Given the description of an element on the screen output the (x, y) to click on. 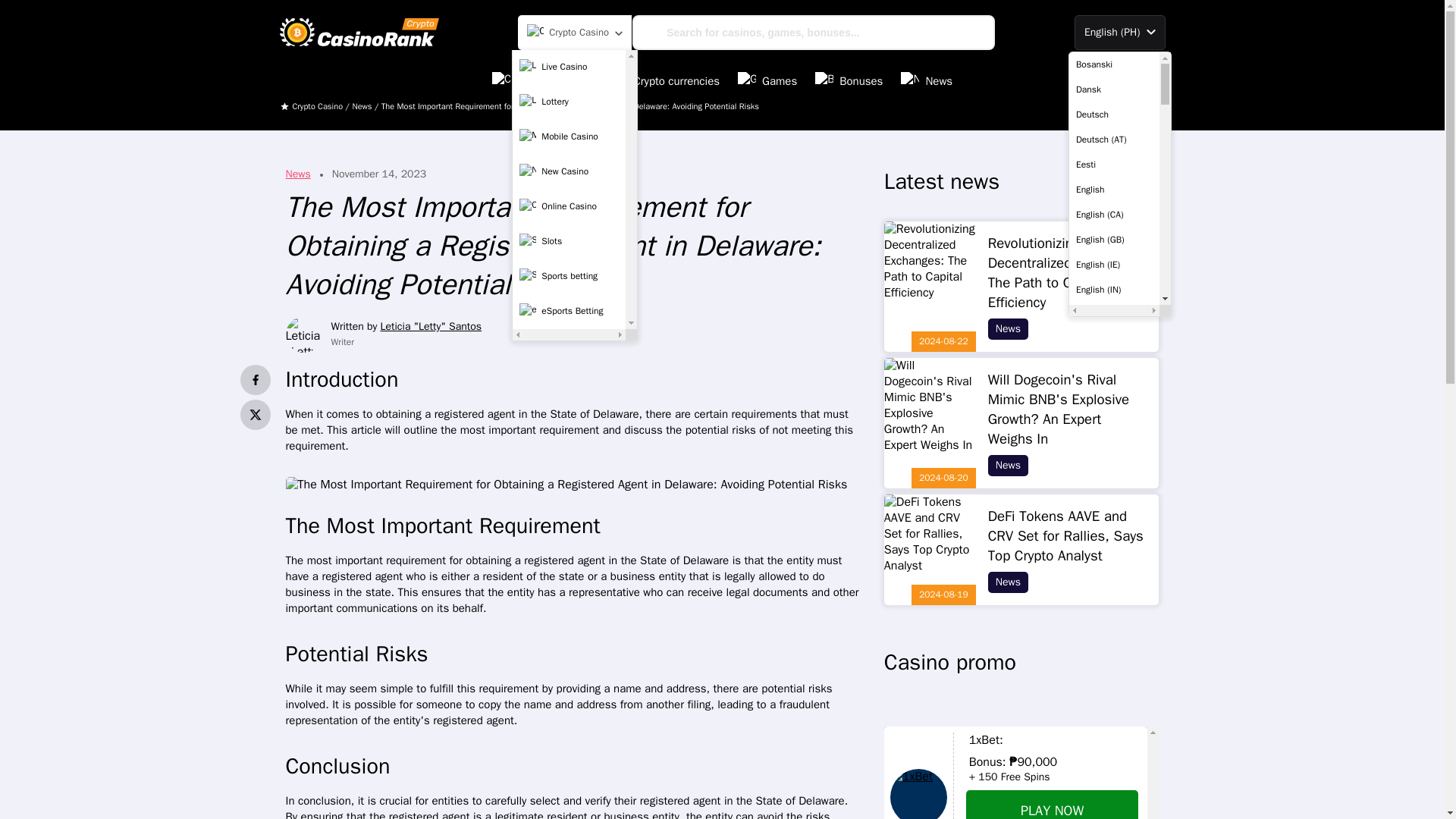
Slots (569, 241)
Italiano (1113, 714)
Deutsch (1113, 113)
English (1113, 189)
Mobile Casino (569, 136)
Magyar (1113, 790)
Indonesia (1113, 690)
New Casino (569, 172)
Lottery (569, 102)
Dansk (1113, 89)
